Given the description of an element on the screen output the (x, y) to click on. 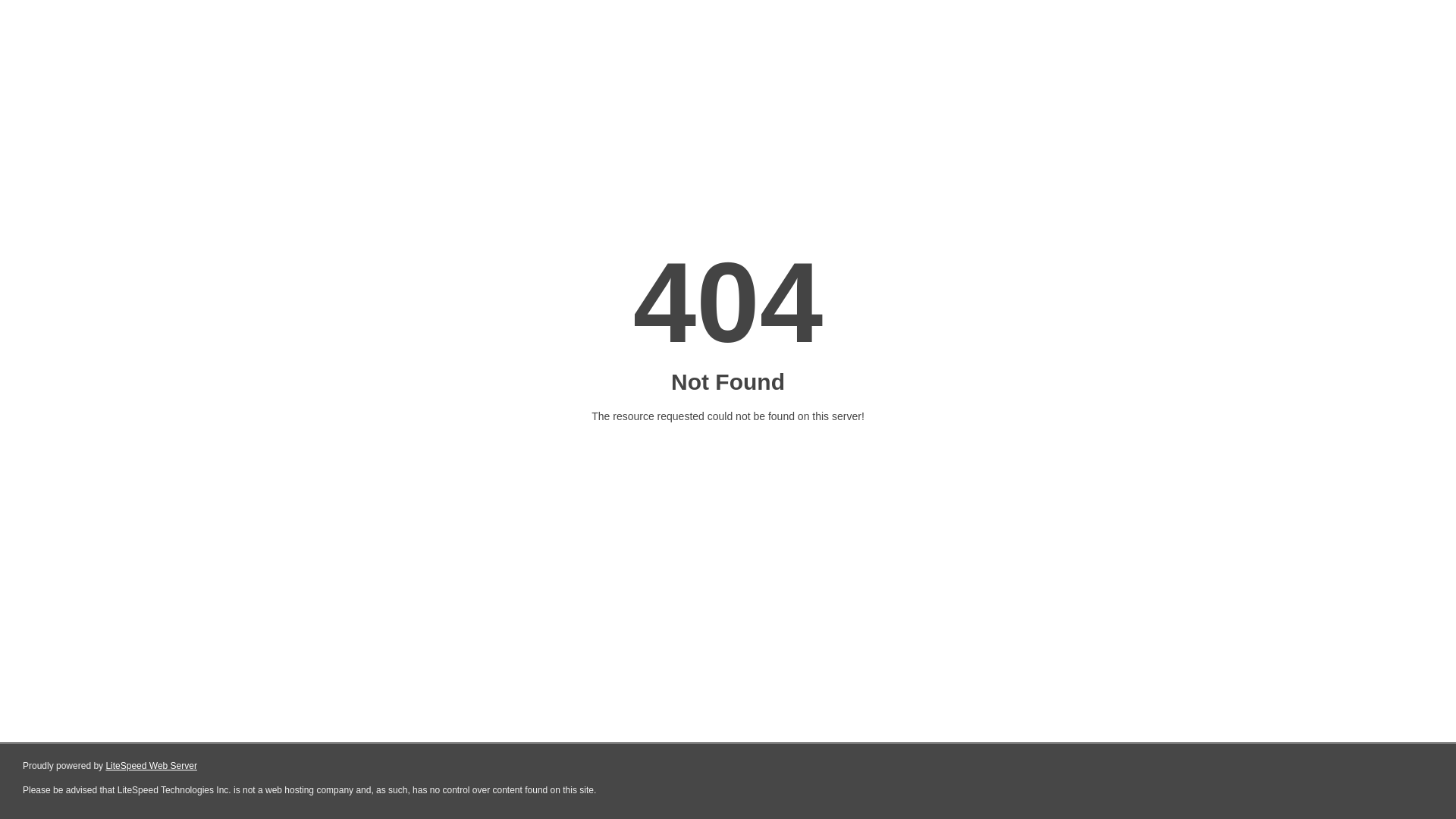
LiteSpeed Web Server Element type: text (151, 765)
